Given the description of an element on the screen output the (x, y) to click on. 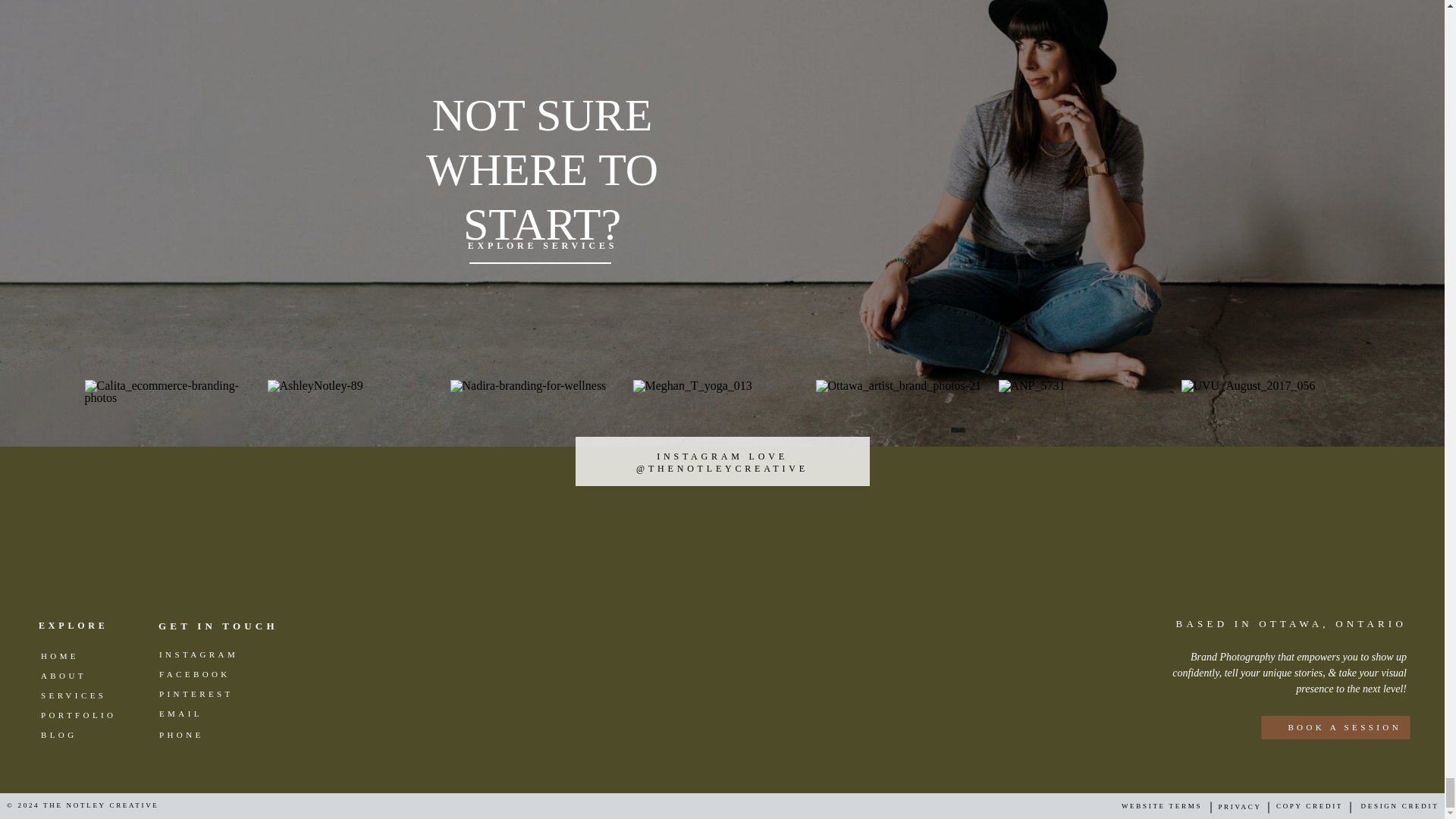
SERVICES (85, 698)
INSTAGRAM (203, 657)
FACEBOOK (203, 677)
PINTEREST (203, 696)
EMAIL (203, 716)
PHONE (203, 737)
BLOG (85, 737)
ABOUT (85, 678)
PORTFOLIO (85, 718)
EXPLORE SERVICES (542, 246)
